Given the description of an element on the screen output the (x, y) to click on. 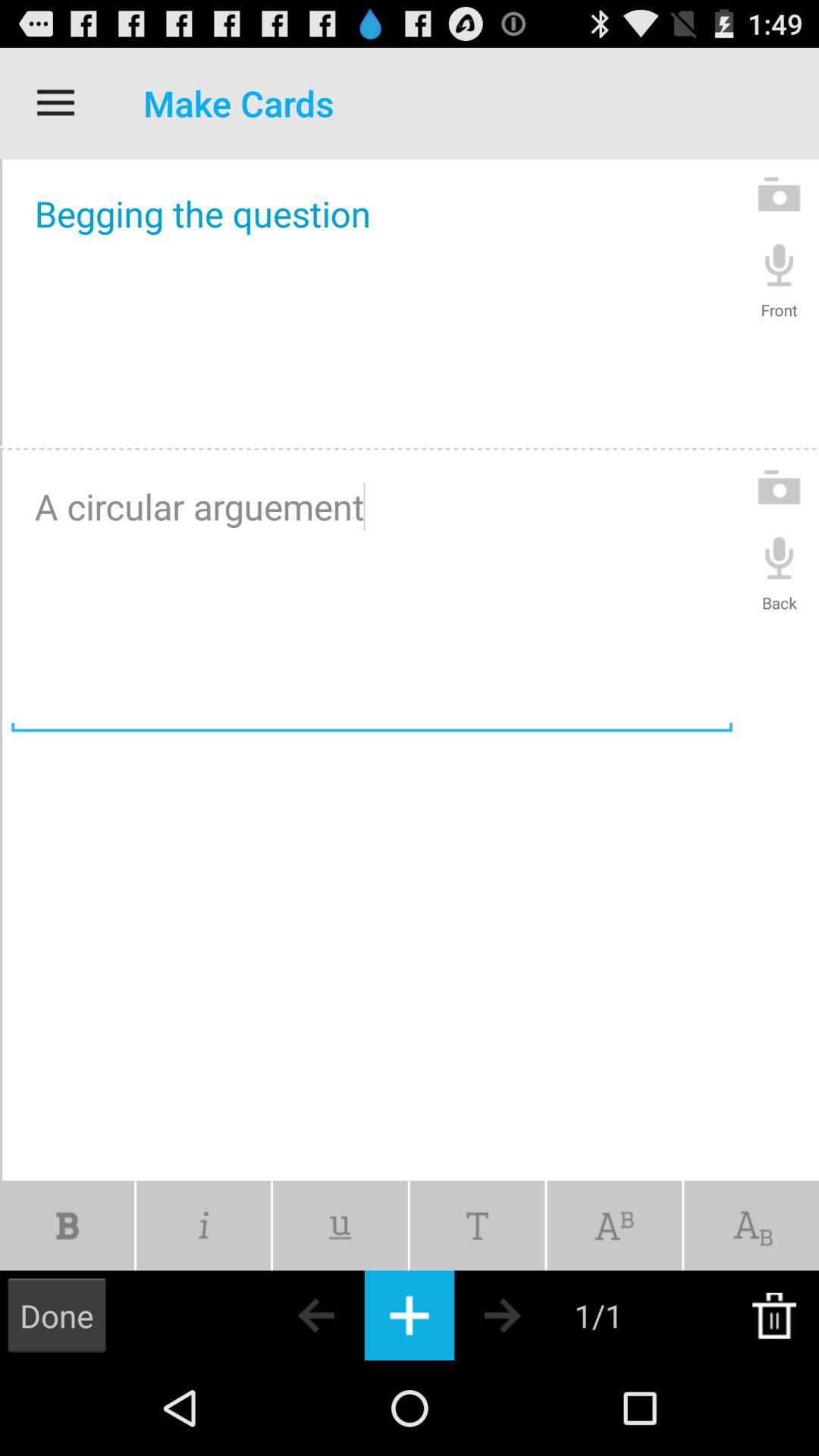
listen to text (779, 264)
